Given the description of an element on the screen output the (x, y) to click on. 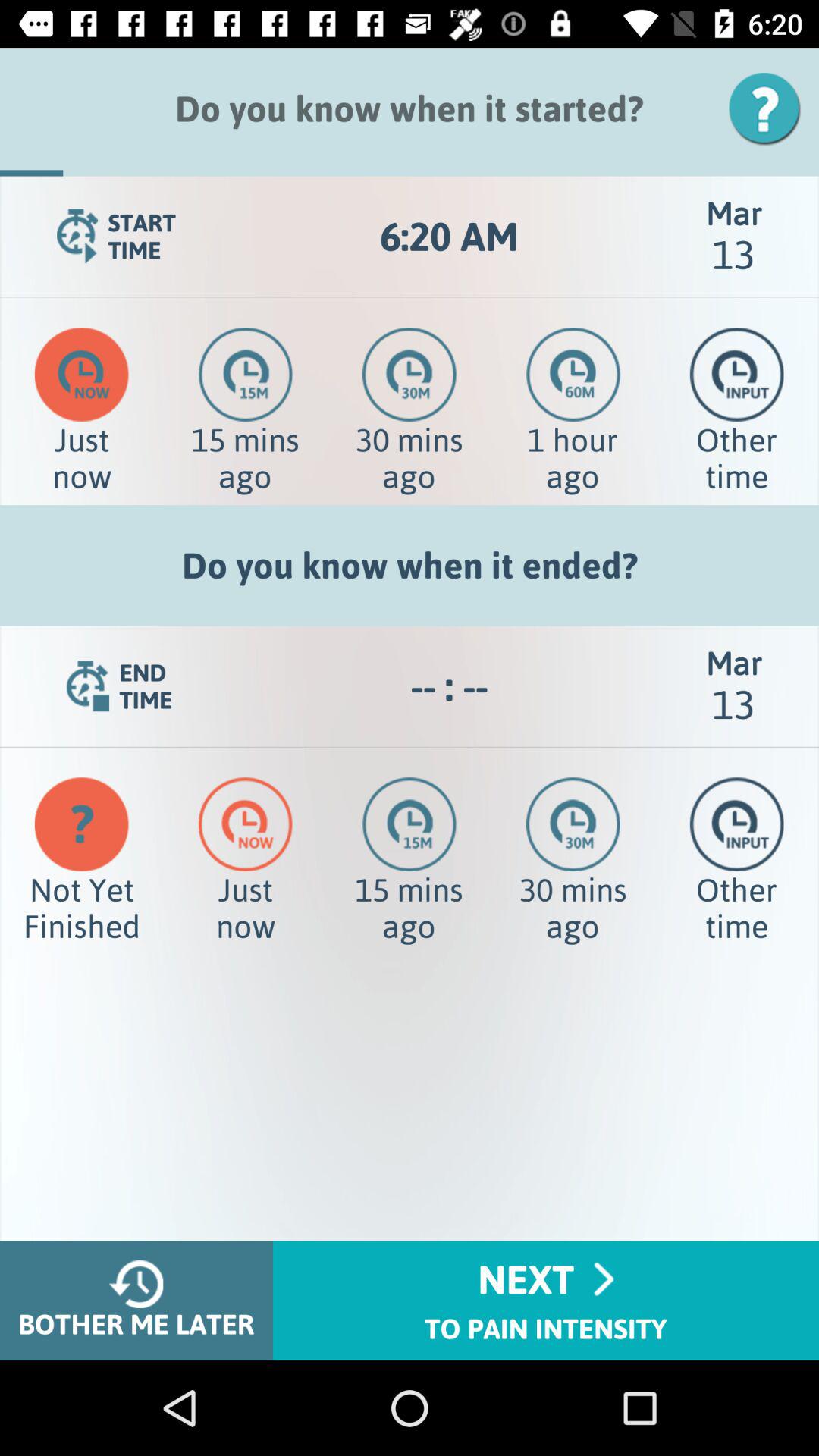
help (769, 108)
